Given the description of an element on the screen output the (x, y) to click on. 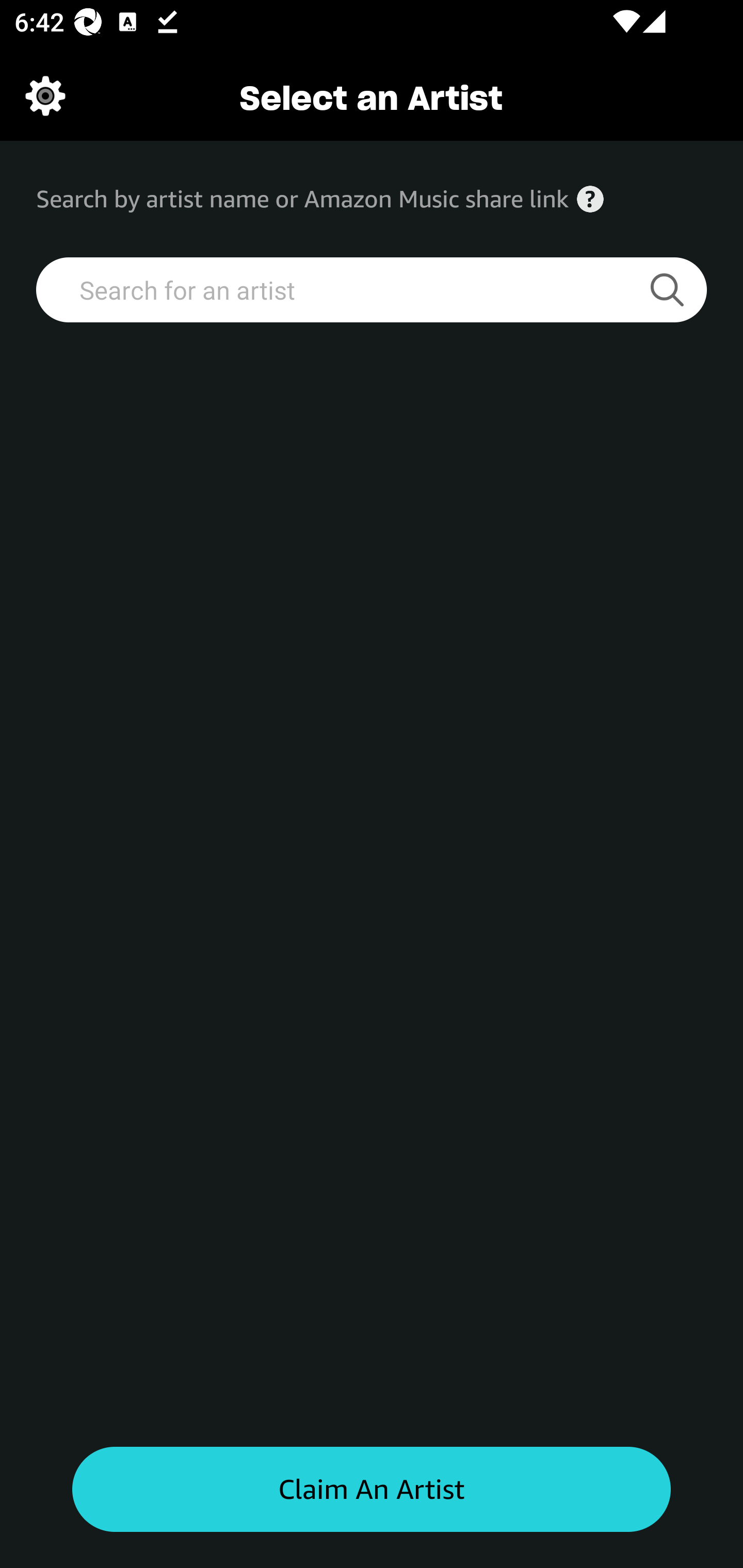
Help  icon (589, 199)
Claim an artist button Claim An Artist (371, 1489)
